Given the description of an element on the screen output the (x, y) to click on. 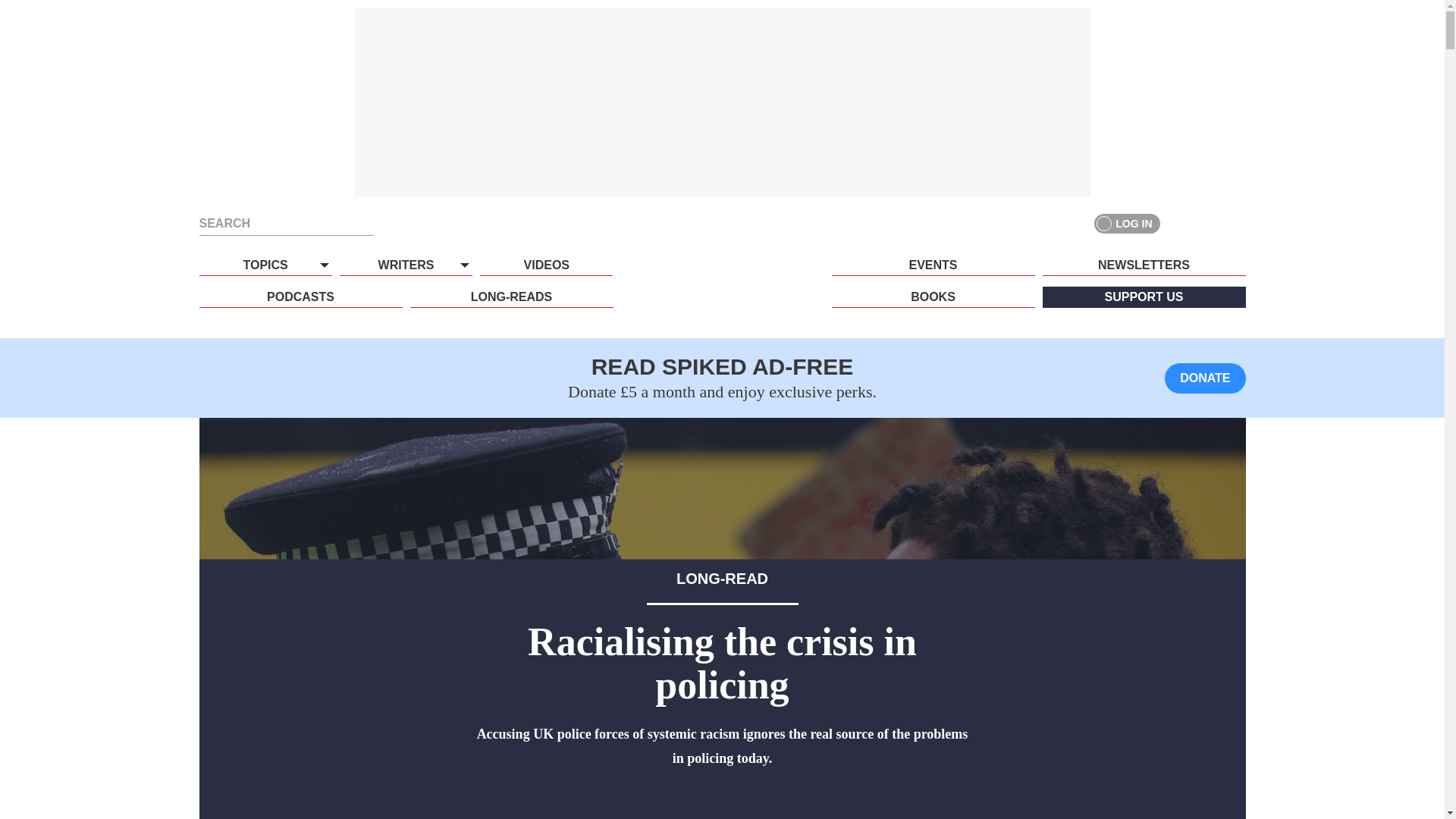
WRITERS (405, 265)
TOPICS (264, 265)
EVENTS (932, 265)
Twitter (1207, 223)
VIDEOS (546, 265)
spiked - humanity is underrated (722, 293)
NEWSLETTERS (1143, 265)
Facebook (1180, 223)
BOOKS (932, 296)
YouTube (1234, 223)
